Given the description of an element on the screen output the (x, y) to click on. 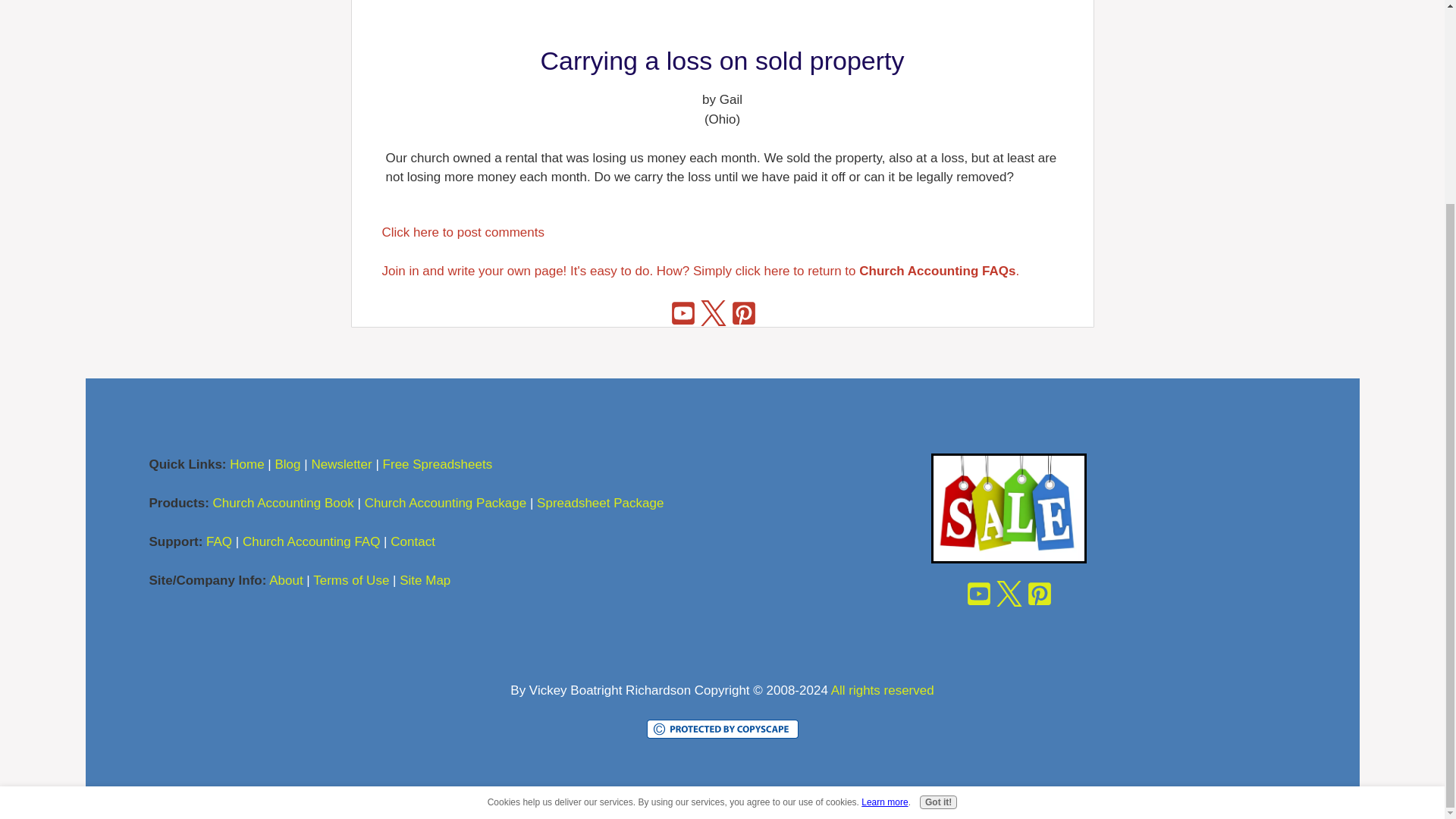
Newsletter (341, 464)
Home (246, 464)
Church Accounting Book (282, 503)
Go to Church Accounting Package (1008, 559)
Contact (412, 541)
Blog (287, 464)
Subscribe to our YouTube Channel (977, 592)
About (285, 580)
Subscribe to our YouTube Channel (683, 312)
Visit us on Pinterest (1038, 592)
Click here to post comments (462, 232)
Free Spreadsheets  (439, 464)
FAQ (218, 541)
Follow us on X (1007, 592)
